Given the description of an element on the screen output the (x, y) to click on. 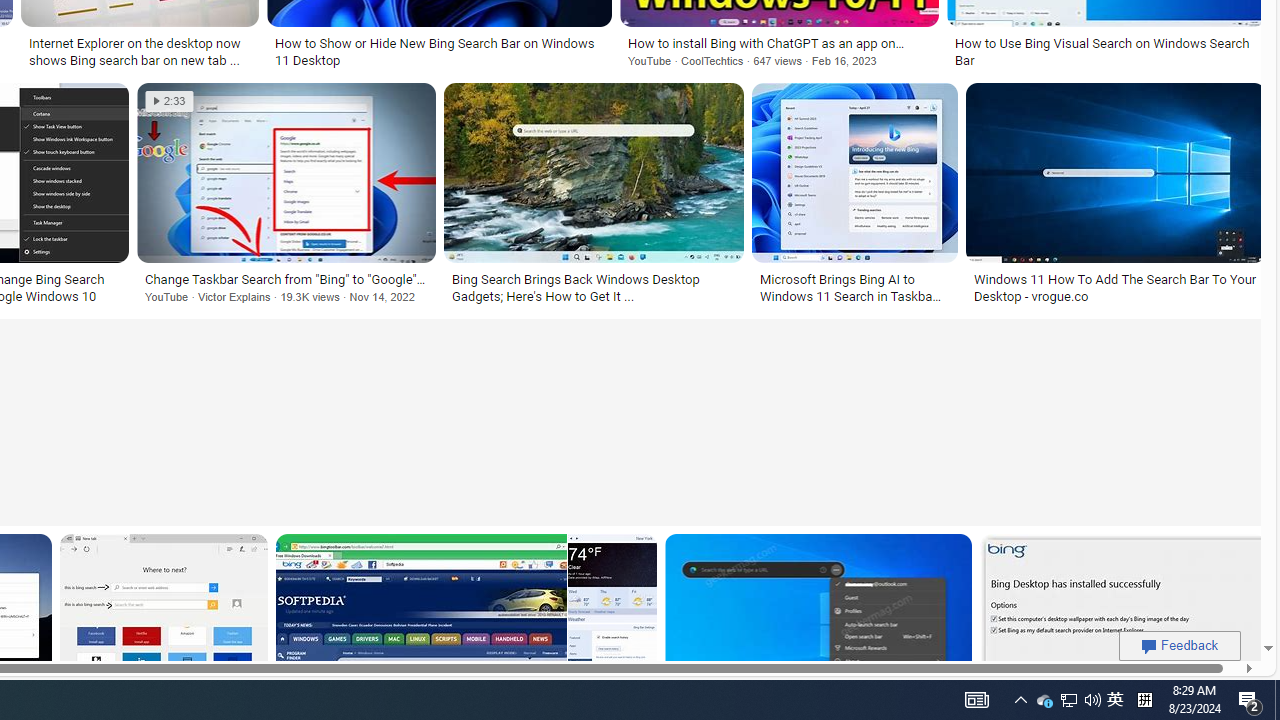
How to Use Bing Visual Search on Windows Search Bar (1106, 52)
How to install Bing with ChatGPT as an app on Windows 11 (779, 43)
2:33 (169, 101)
